Given the description of an element on the screen output the (x, y) to click on. 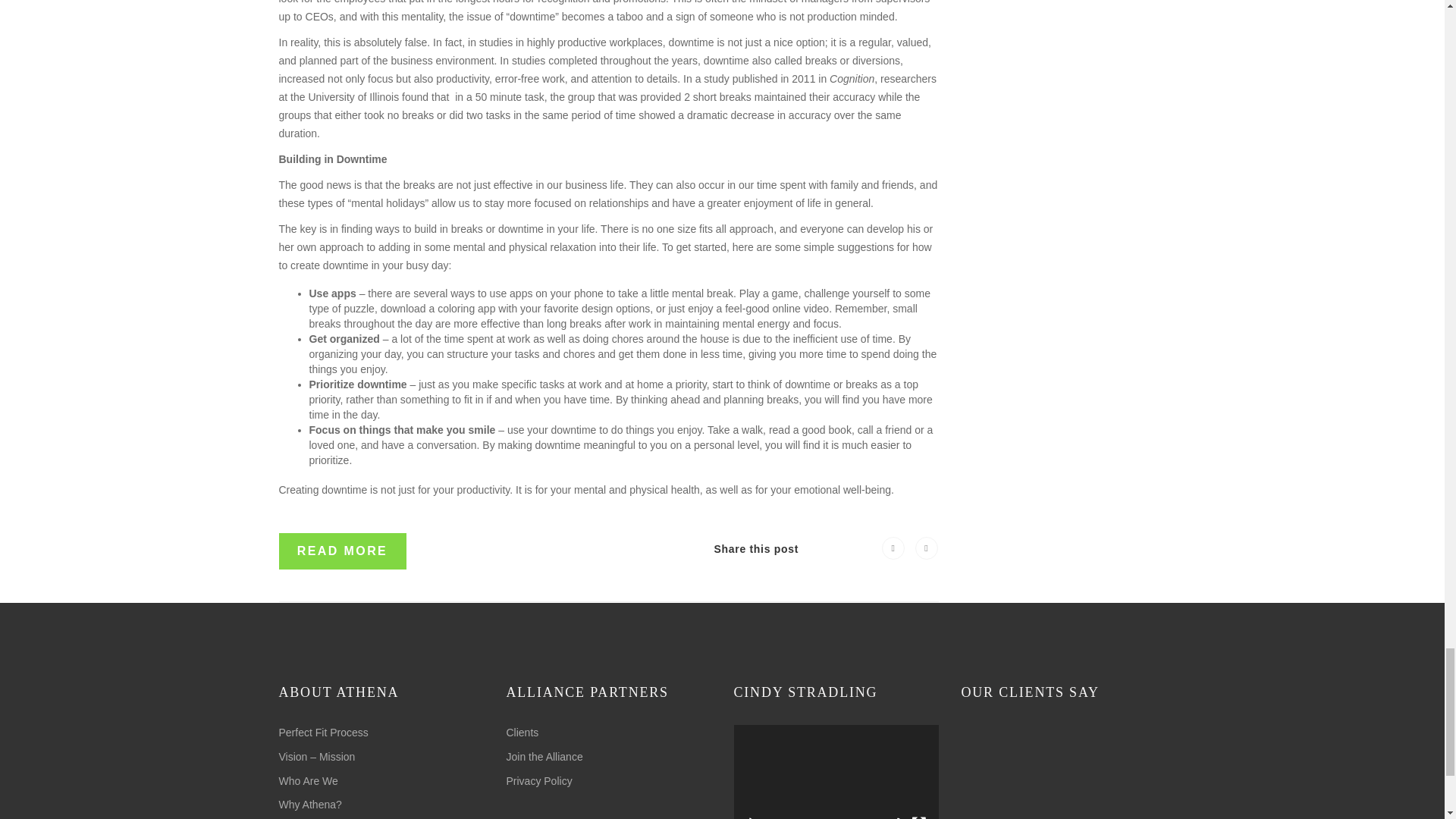
Mute (894, 817)
Fullscreen (918, 817)
Play (753, 817)
